Given the description of an element on the screen output the (x, y) to click on. 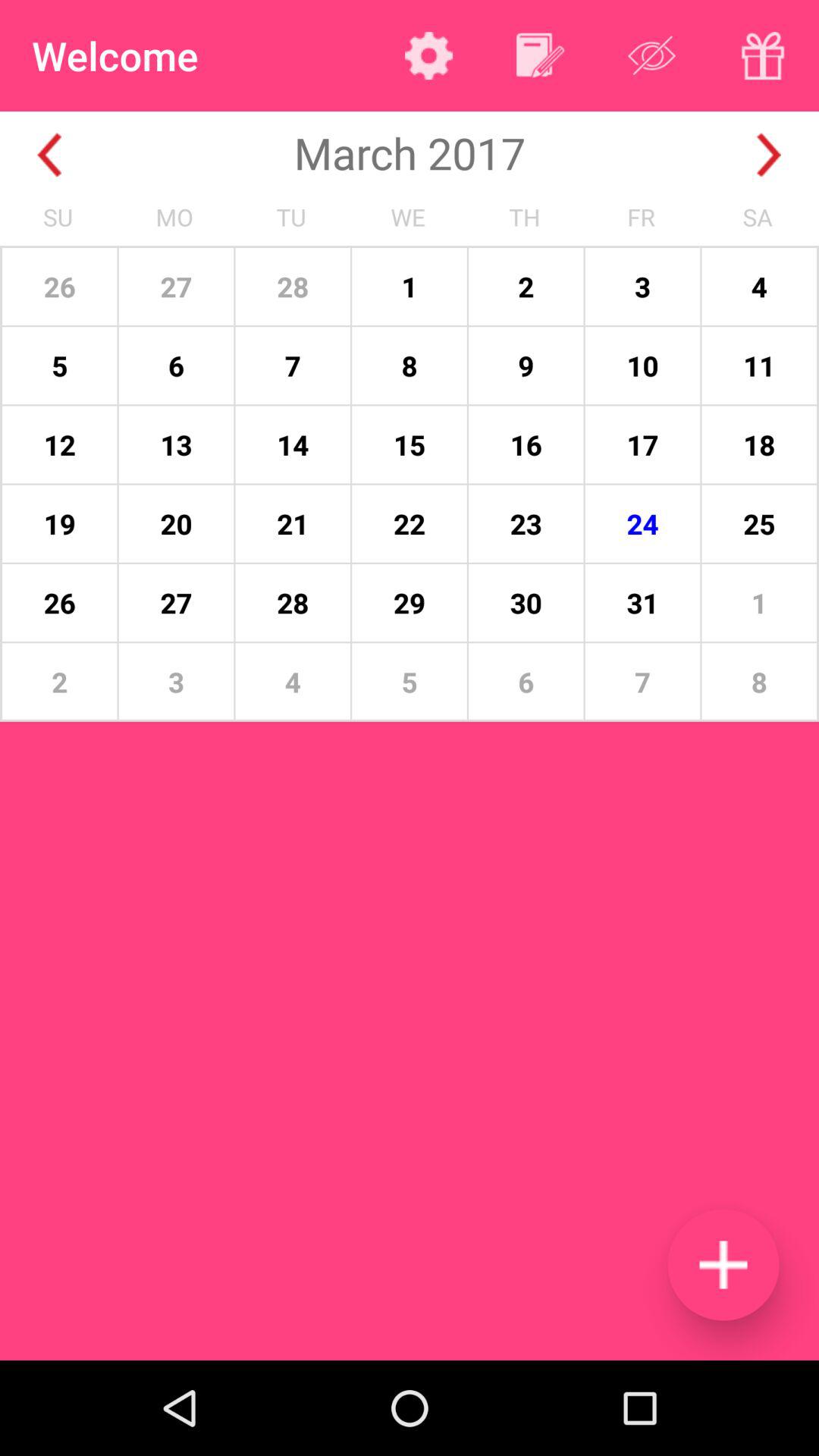
go to next month (769, 155)
